Given the description of an element on the screen output the (x, y) to click on. 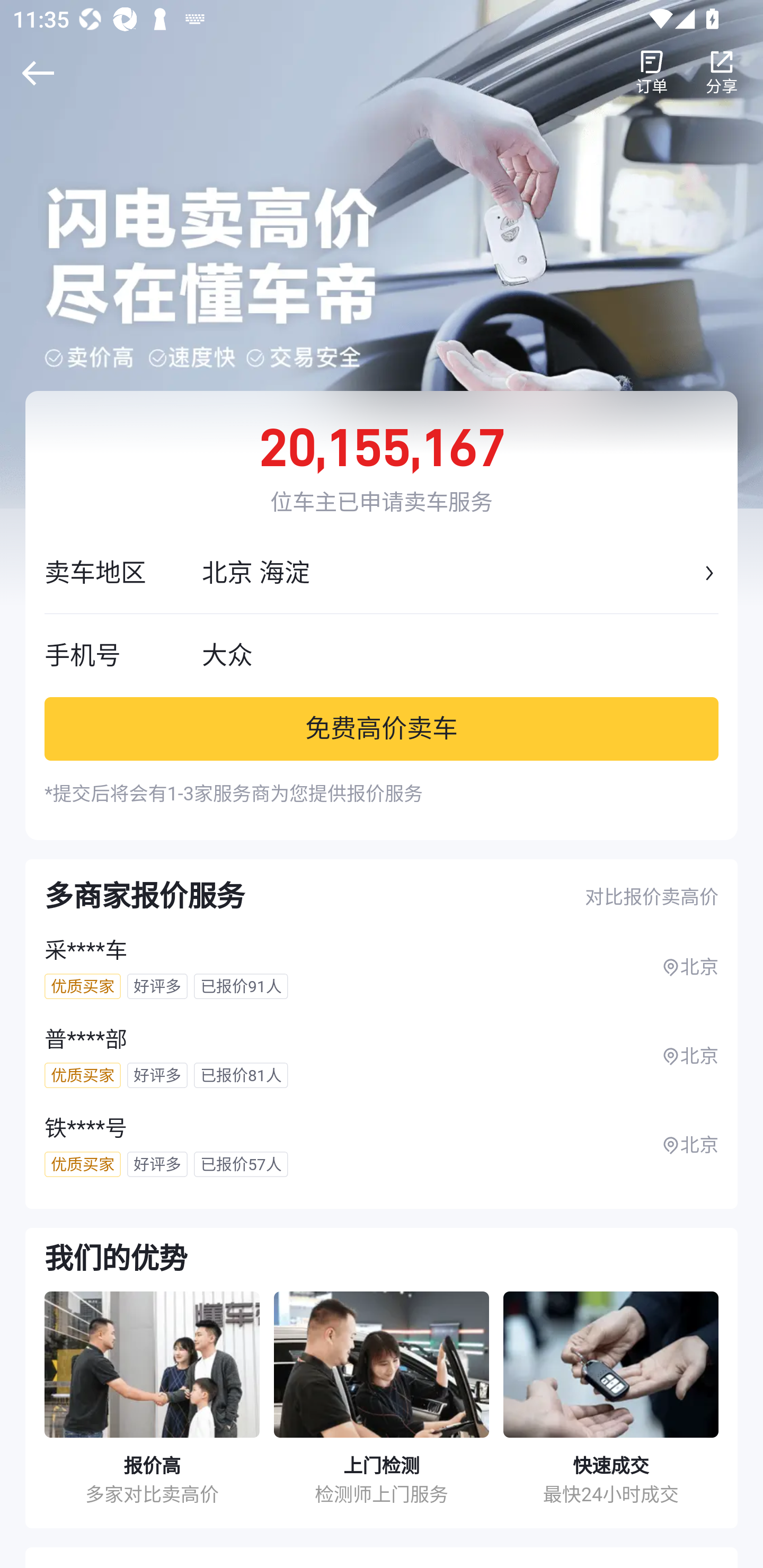
订单 (651, 72)
分享 (721, 72)
北京 海淀 (450, 572)
大众 (460, 655)
免费高价卖车 (381, 728)
